Given the description of an element on the screen output the (x, y) to click on. 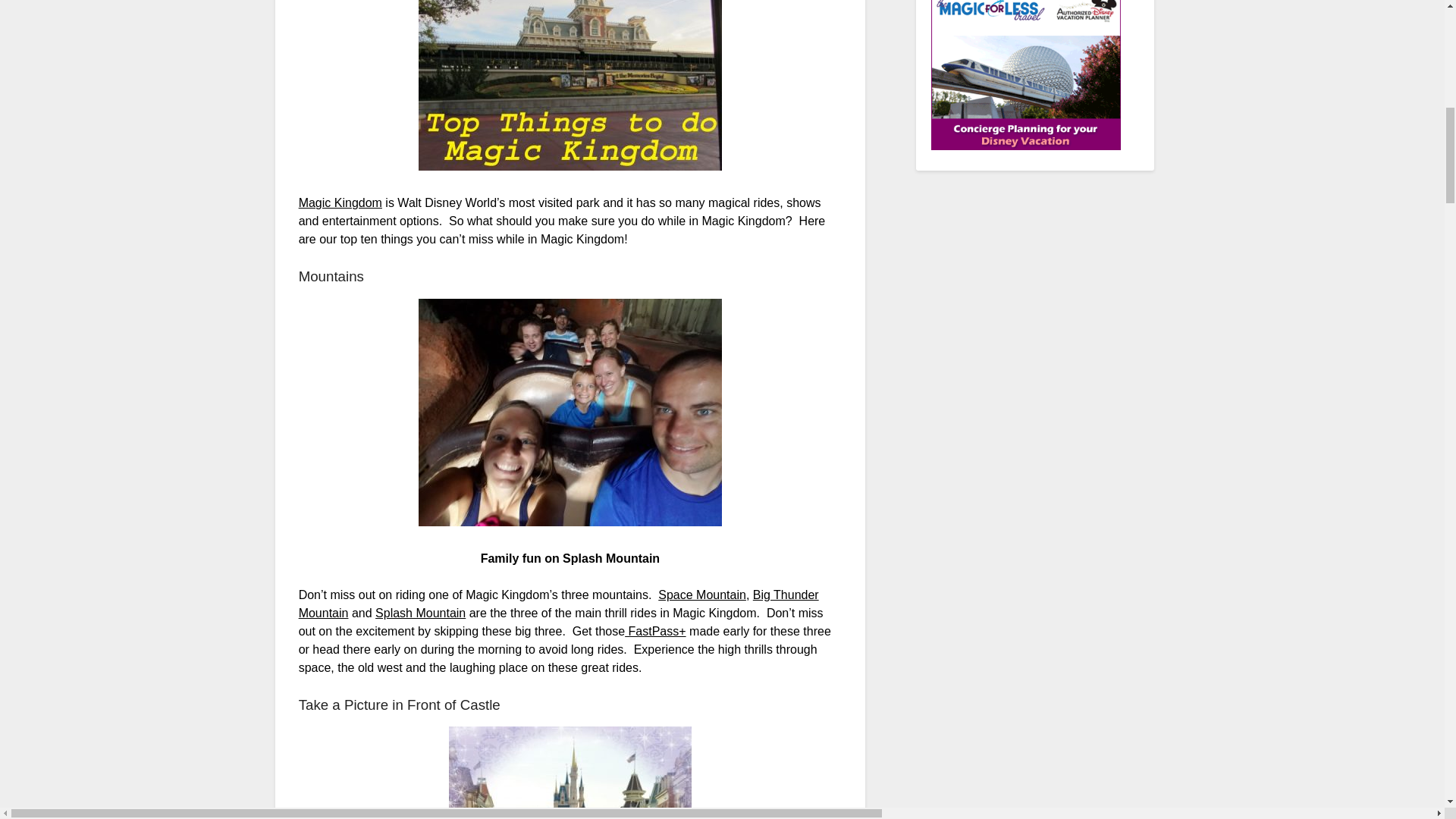
Magic Kingdom (339, 202)
Space Mountain (701, 594)
Splash Mountain (420, 612)
Big Thunder Mountain (558, 603)
